Given the description of an element on the screen output the (x, y) to click on. 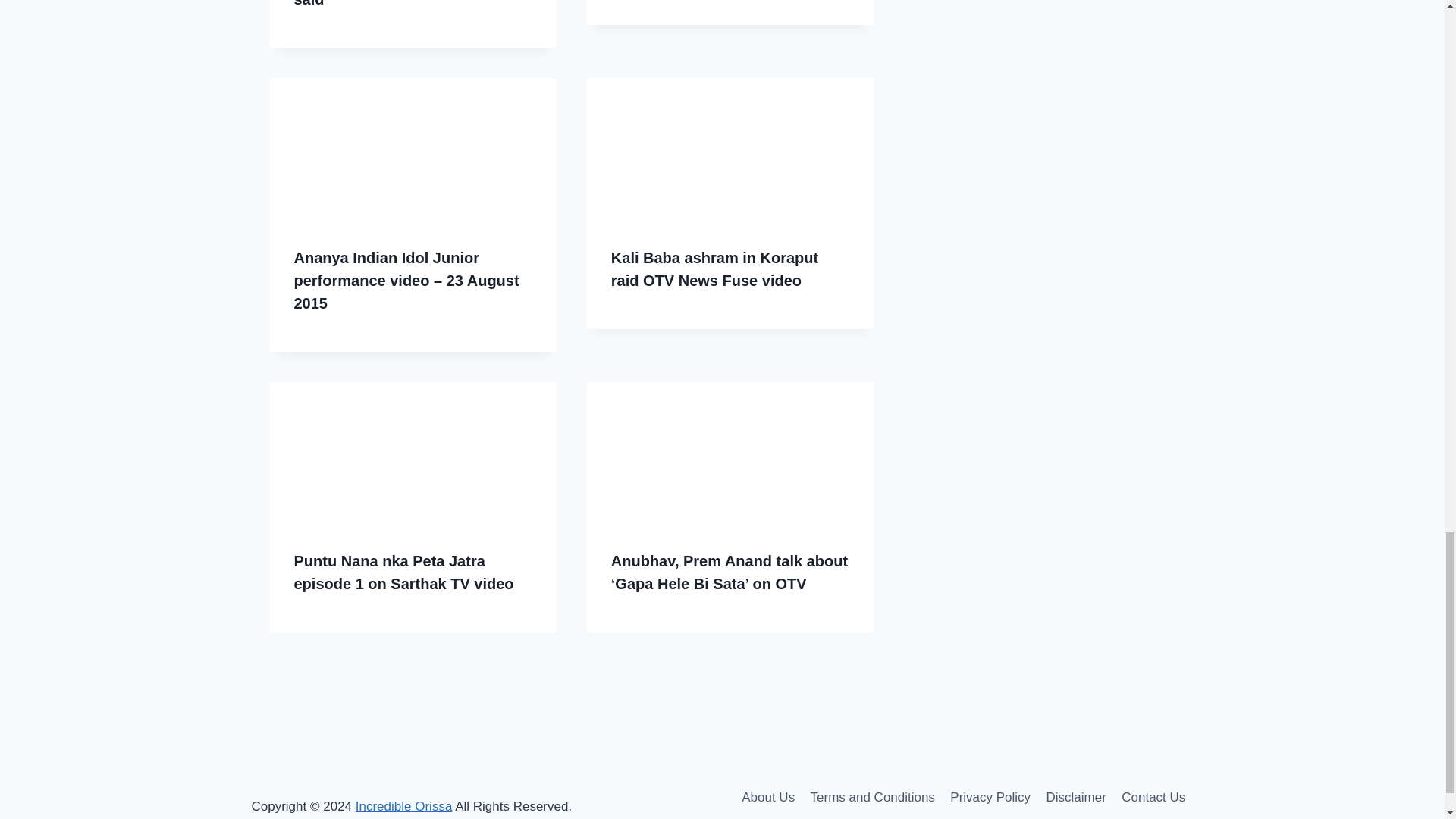
Kali Baba ashram in Koraput raid OTV News Fuse video (714, 269)
Puntu Nana nka Peta Jatra episode 1 on Sarthak TV video (403, 572)
